Given the description of an element on the screen output the (x, y) to click on. 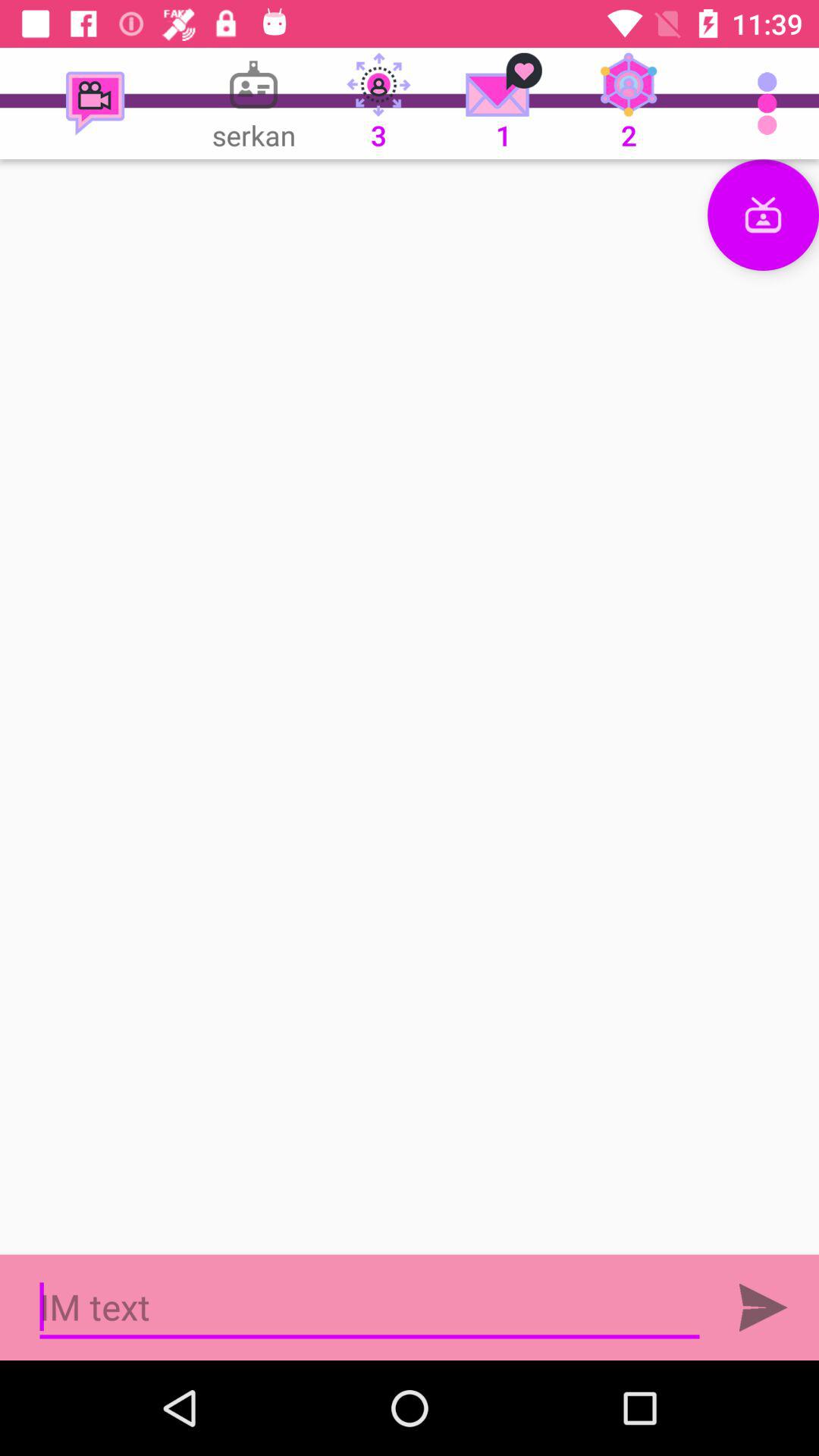
main screen (409, 706)
